Given the description of an element on the screen output the (x, y) to click on. 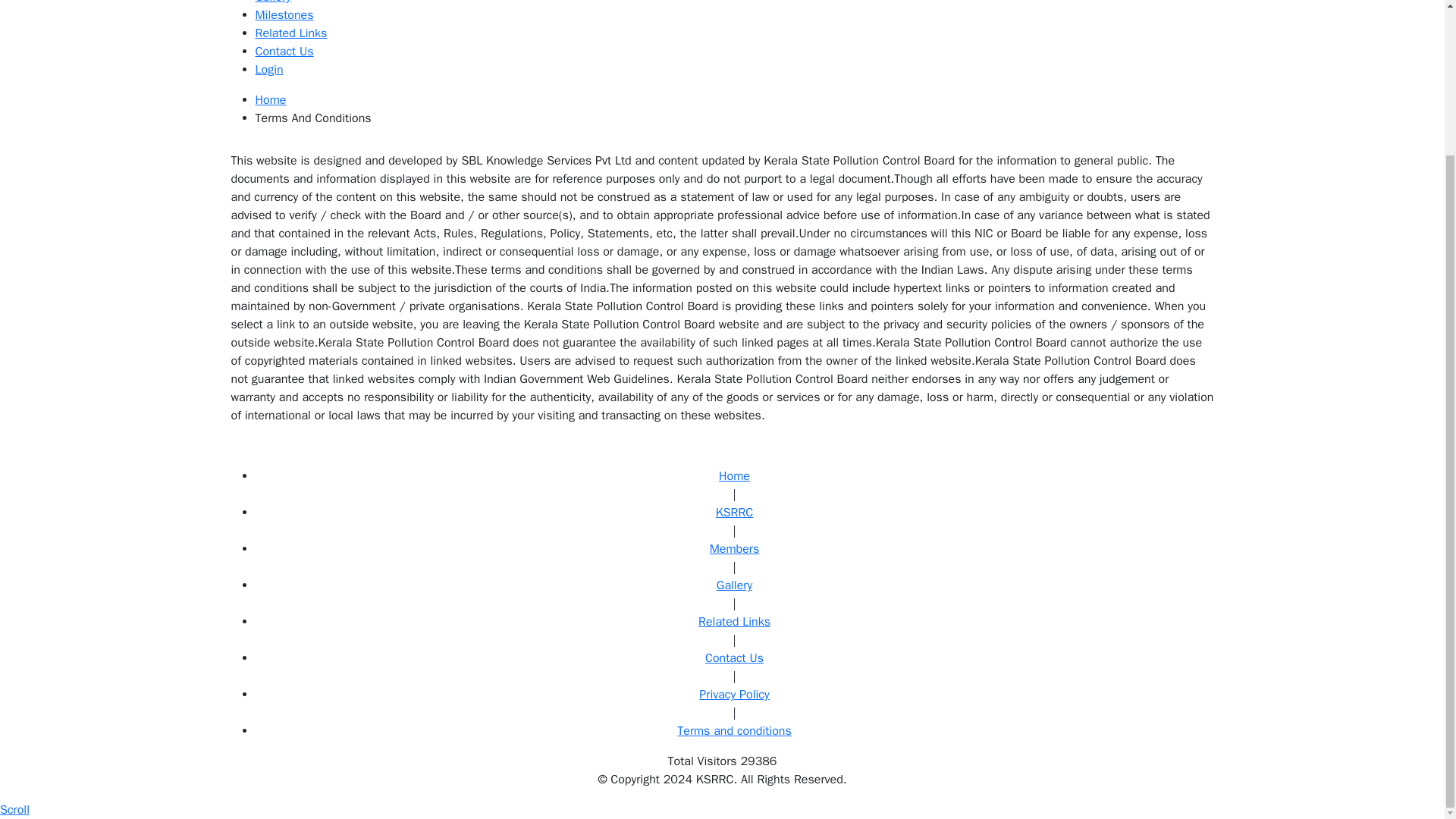
Terms and conditions (734, 730)
Milestones (283, 14)
Contact Us (283, 51)
Privacy Policy (733, 694)
Related Links (290, 32)
Scroll (14, 809)
Gallery (734, 585)
Gallery (271, 2)
Members (735, 548)
Related Links (734, 621)
